Given the description of an element on the screen output the (x, y) to click on. 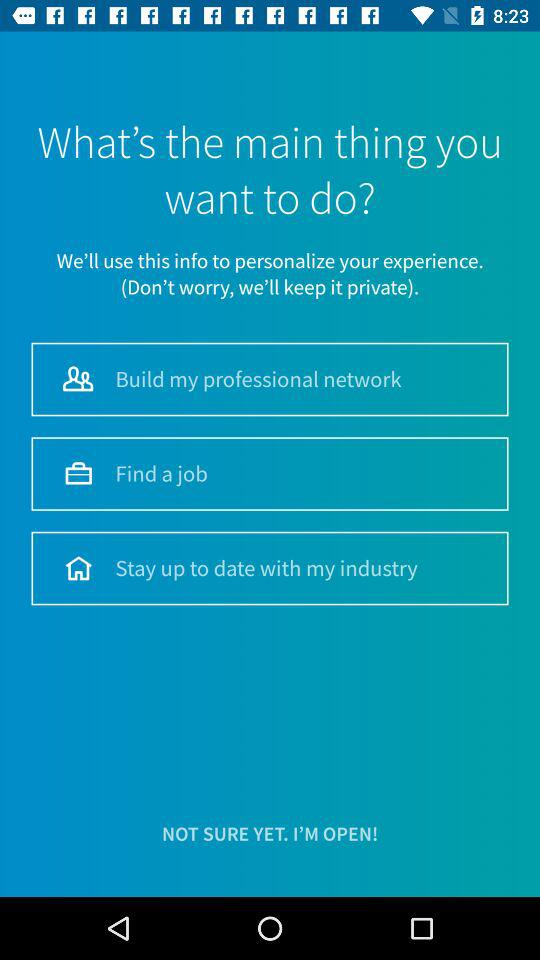
turn on not sure yet (269, 833)
